Given the description of an element on the screen output the (x, y) to click on. 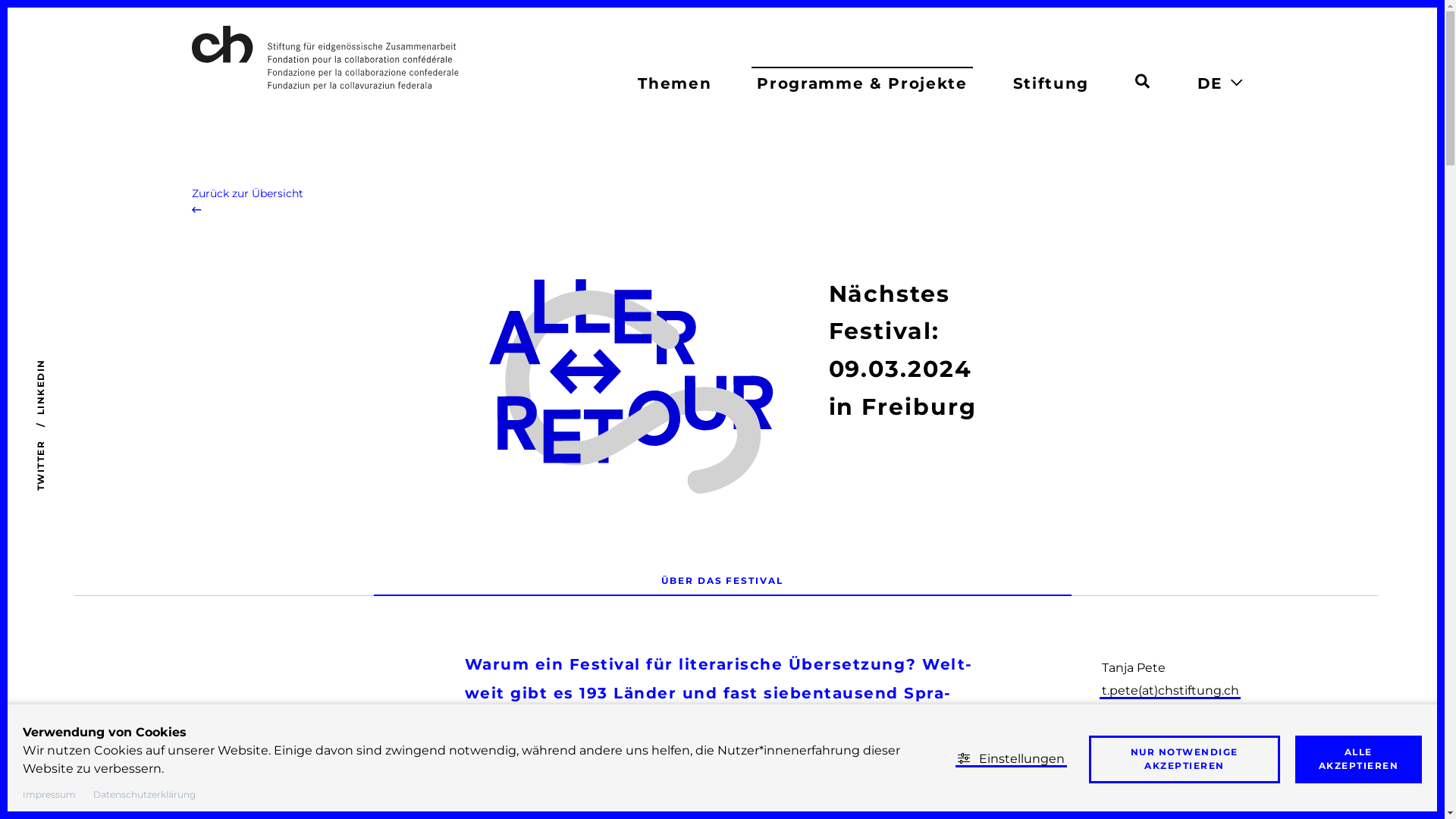
Einstellungen Element type: text (1010, 758)
Suche Element type: hover (1142, 80)
Home Element type: text (396, 58)
NUR NOTWENDIGE AKZEPTIEREN Element type: text (1184, 759)
DE Element type: text (1209, 83)
Suche Element type: text (1141, 78)
ALLE AKZEPTIEREN Element type: text (1358, 759)
+41 31 320 16 25 Element type: text (1147, 712)
Impressum Element type: text (49, 793)
